Given the description of an element on the screen output the (x, y) to click on. 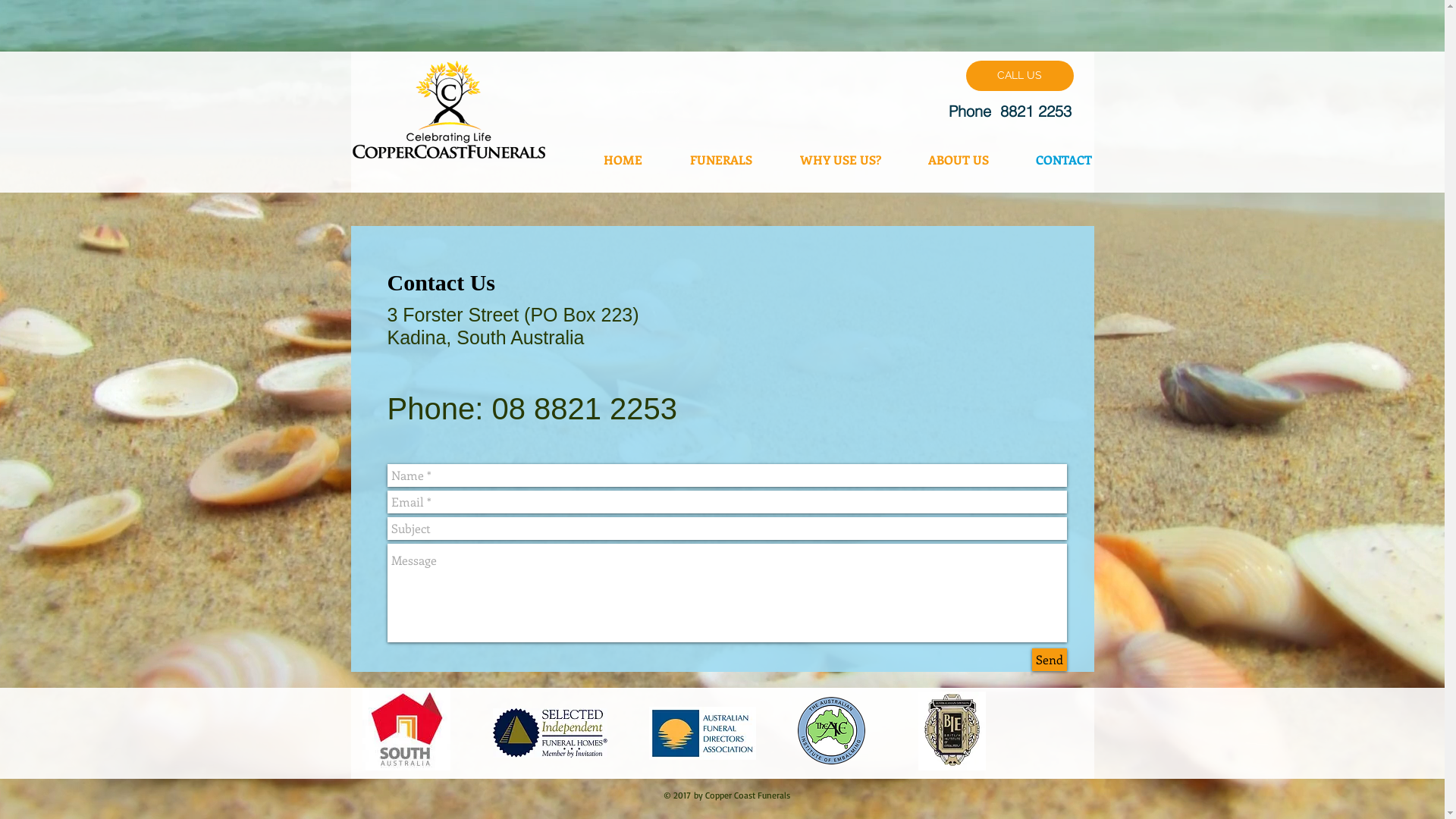
FUNERALS Element type: text (708, 159)
Google Maps Element type: hover (918, 356)
HOME Element type: text (610, 159)
Send Element type: text (1048, 659)
CONTACT Element type: text (1050, 159)
ABOUT US Element type: text (945, 159)
WHY USE US? Element type: text (826, 159)
Copper Coast Funerals Element type: hover (448, 108)
CALL US Element type: text (1019, 75)
